Given the description of an element on the screen output the (x, y) to click on. 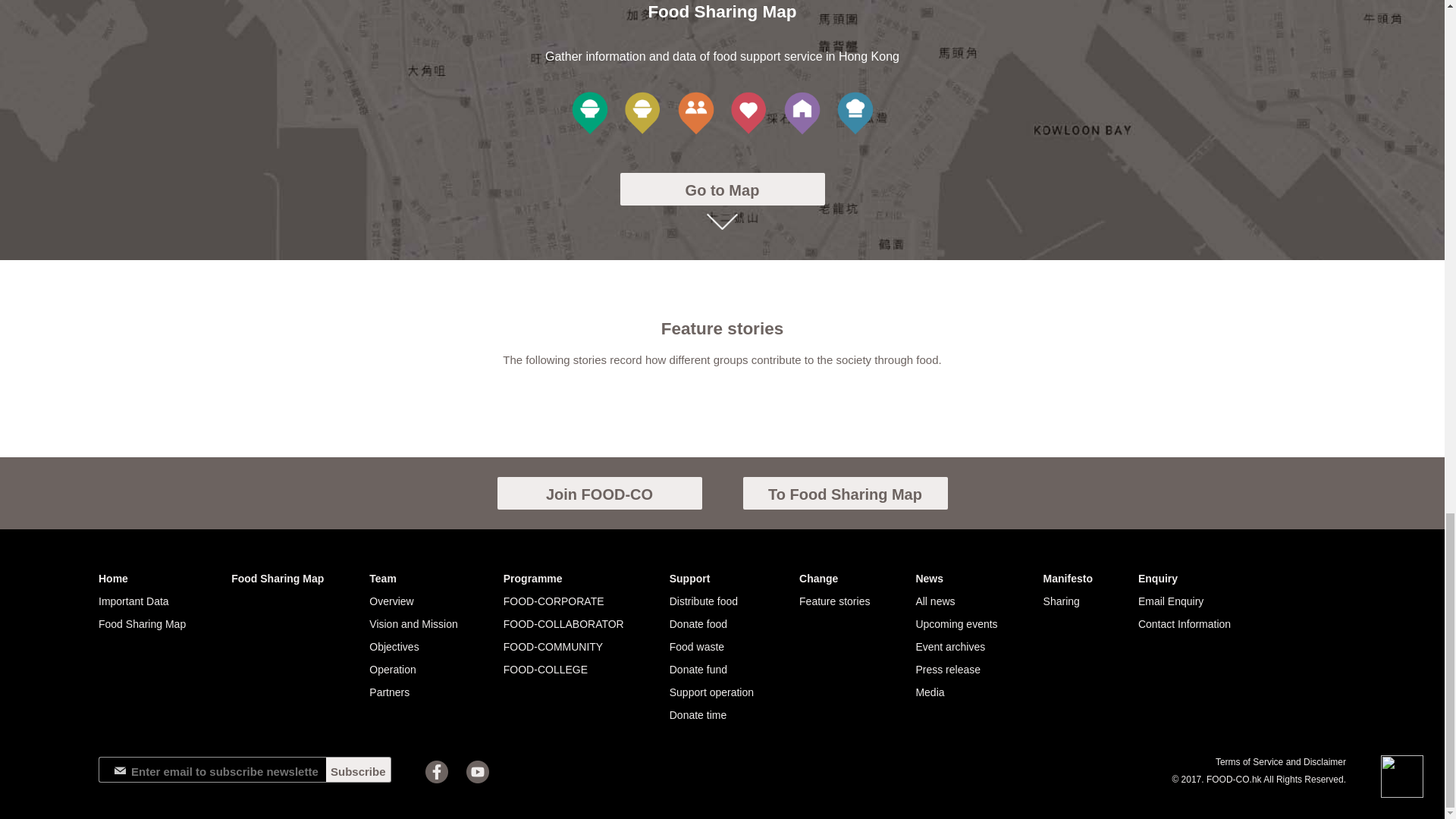
Go to Map (722, 188)
Subscribe (358, 769)
Submit (90, 561)
Go to Map (722, 188)
